Given the description of an element on the screen output the (x, y) to click on. 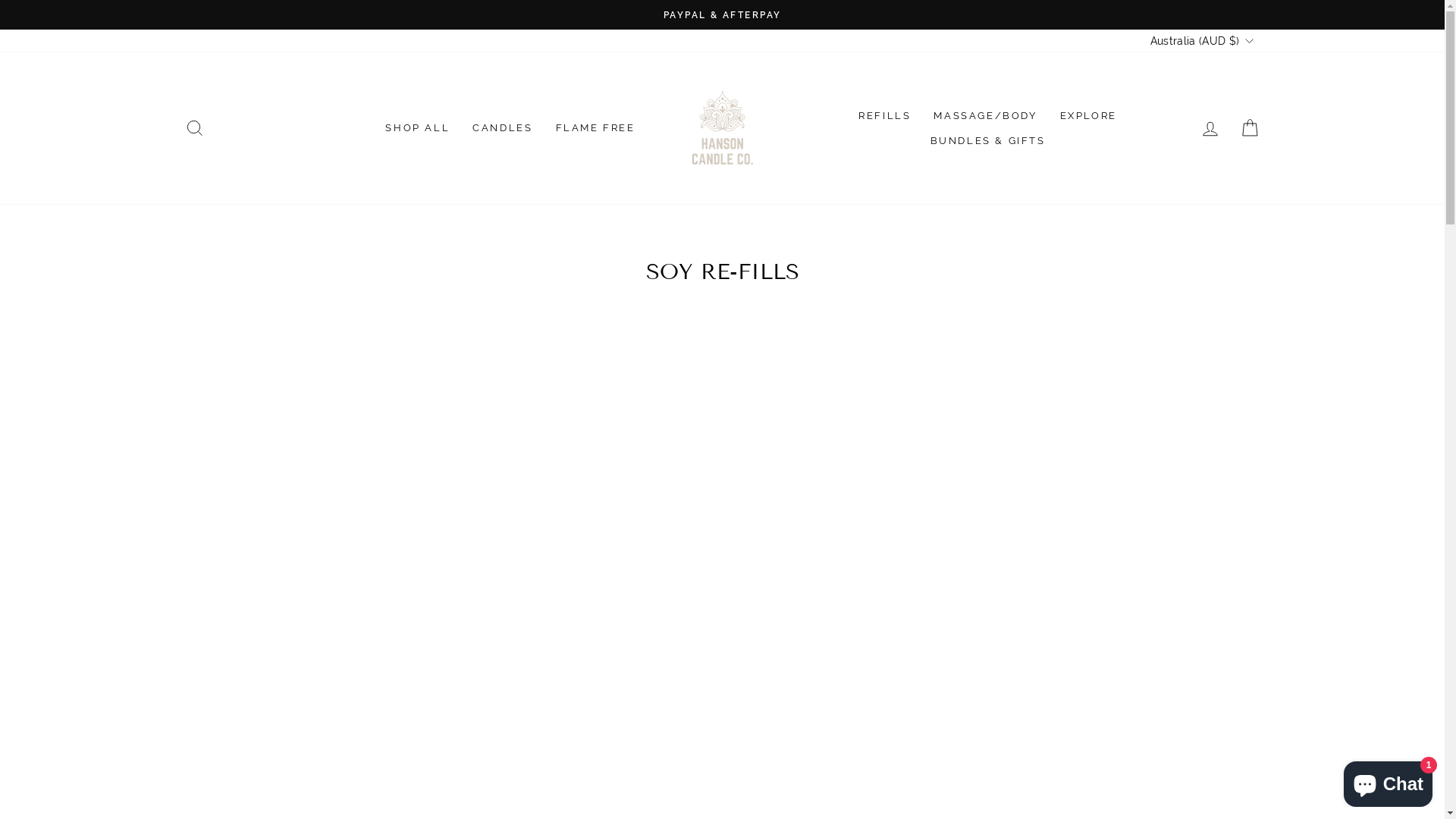
MASSAGE/BODY Element type: text (985, 115)
EXPLORE Element type: text (1088, 115)
SHOP ALL Element type: text (417, 128)
BUNDLES & GIFTS Element type: text (988, 140)
LOG IN Element type: text (1210, 128)
Shopify online store chat Element type: hover (1388, 780)
FLAME FREE Element type: text (595, 128)
REFILLS Element type: text (884, 115)
CANDLES Element type: text (502, 128)
CART Element type: text (1249, 128)
Australia (AUD $) Element type: text (1200, 40)
SEARCH Element type: text (193, 128)
